Given the description of an element on the screen output the (x, y) to click on. 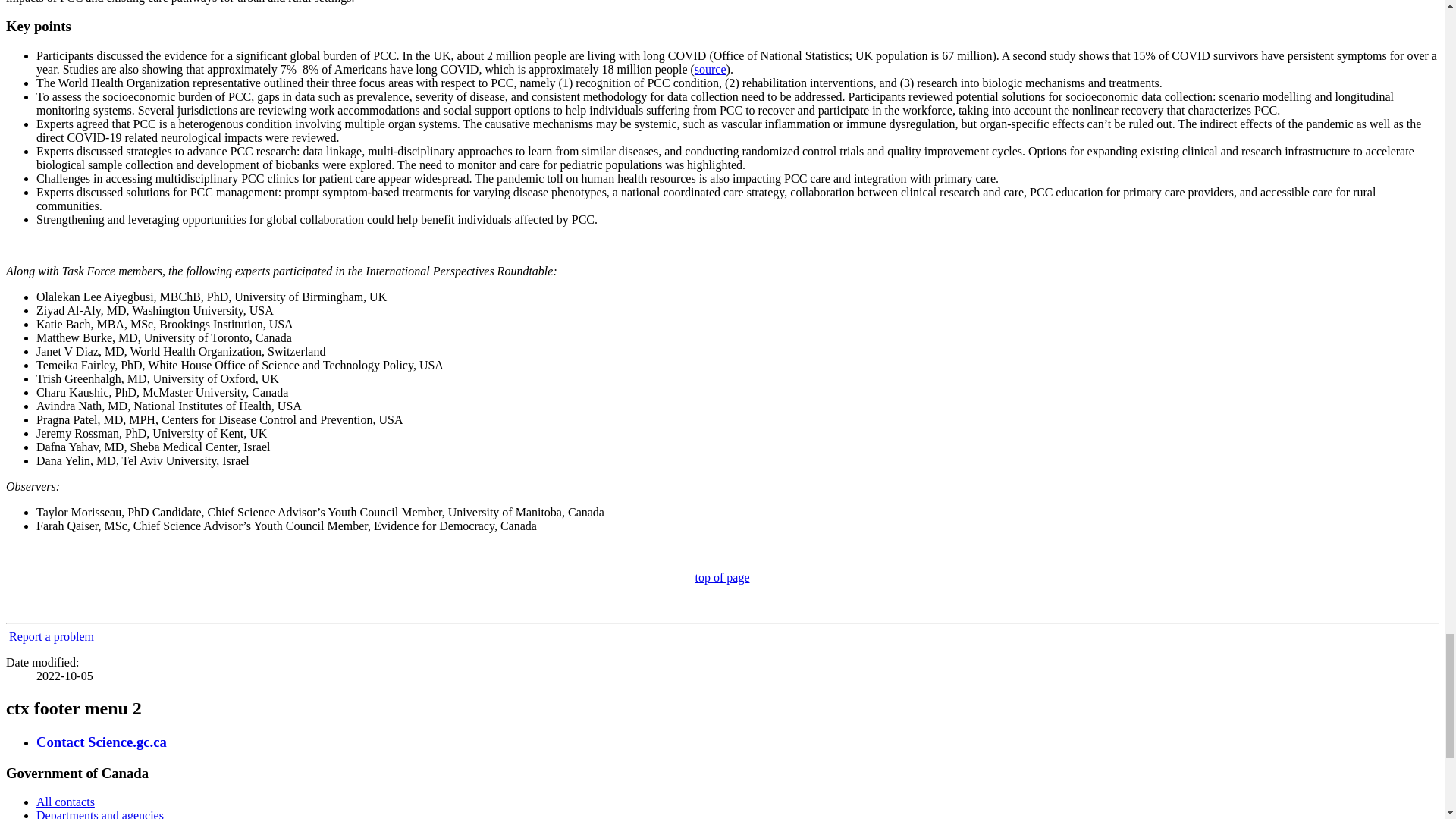
Departments and agencies (99, 814)
 Report a problem (49, 635)
source (710, 69)
Contact Science.gc.ca (101, 741)
top of page (721, 576)
All contacts (65, 801)
